Given the description of an element on the screen output the (x, y) to click on. 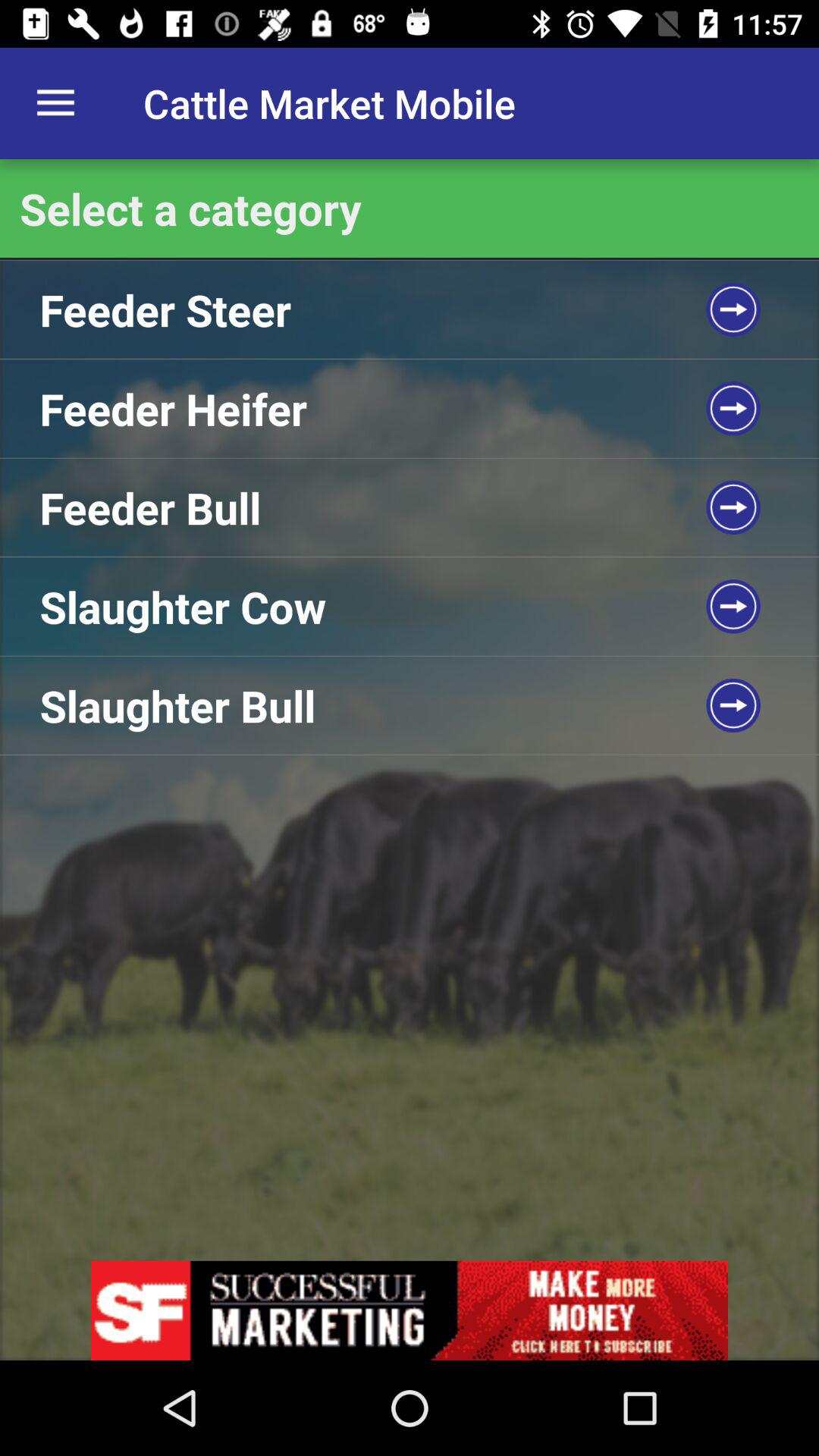
details about advertisement (409, 1310)
